Given the description of an element on the screen output the (x, y) to click on. 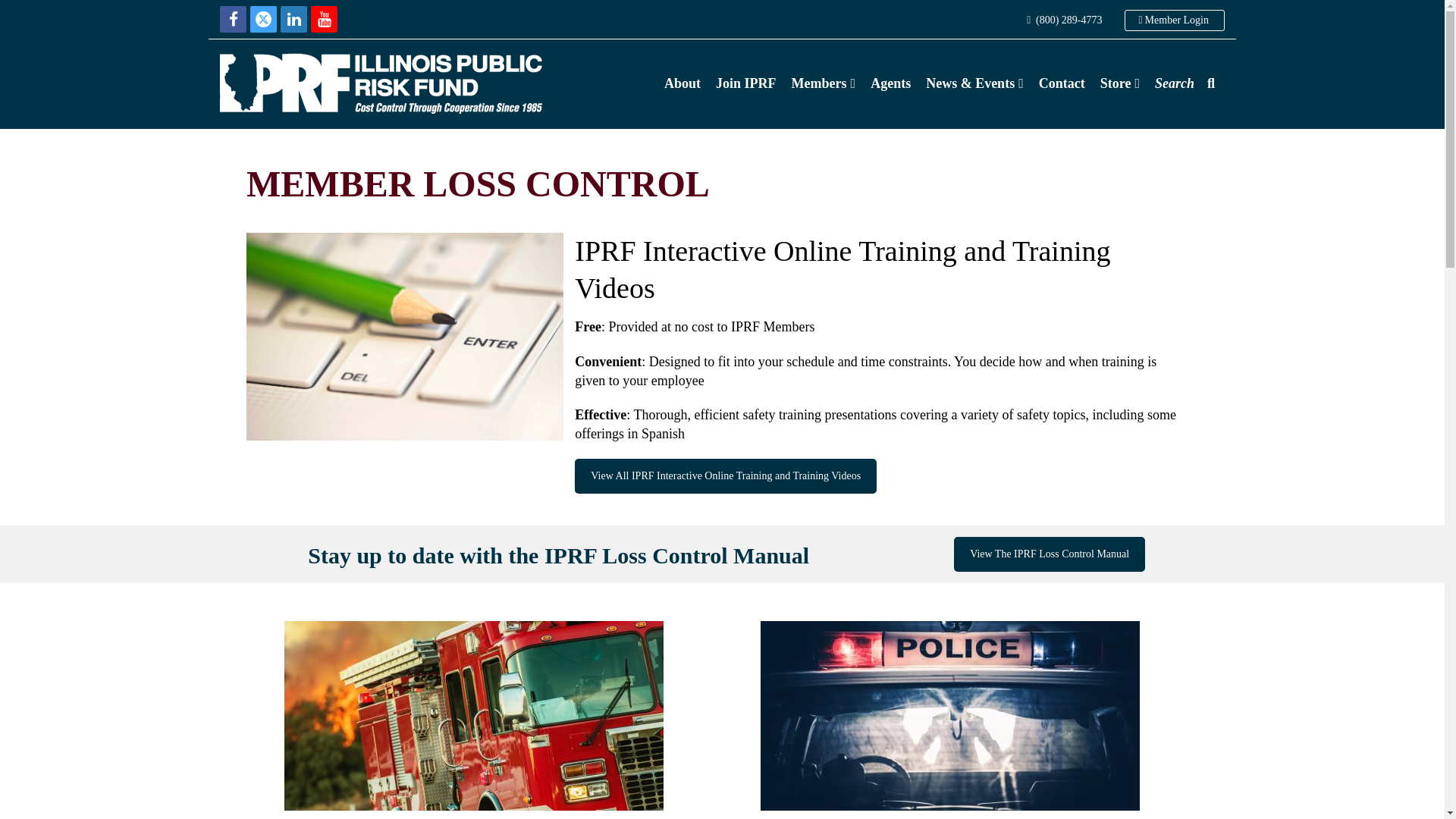
Illinois Public Risk Fund (380, 81)
Contact (1061, 83)
Store (1120, 83)
Member Login (1174, 20)
Members (823, 83)
E-learning, online learning concept (404, 336)
Police Cruiser Traffic Stop (950, 715)
Member Login (1174, 20)
About (681, 83)
Search (1174, 83)
Store (1120, 83)
Search (1174, 83)
Join IPRF (745, 83)
Agents (890, 83)
Agents (890, 83)
